Given the description of an element on the screen output the (x, y) to click on. 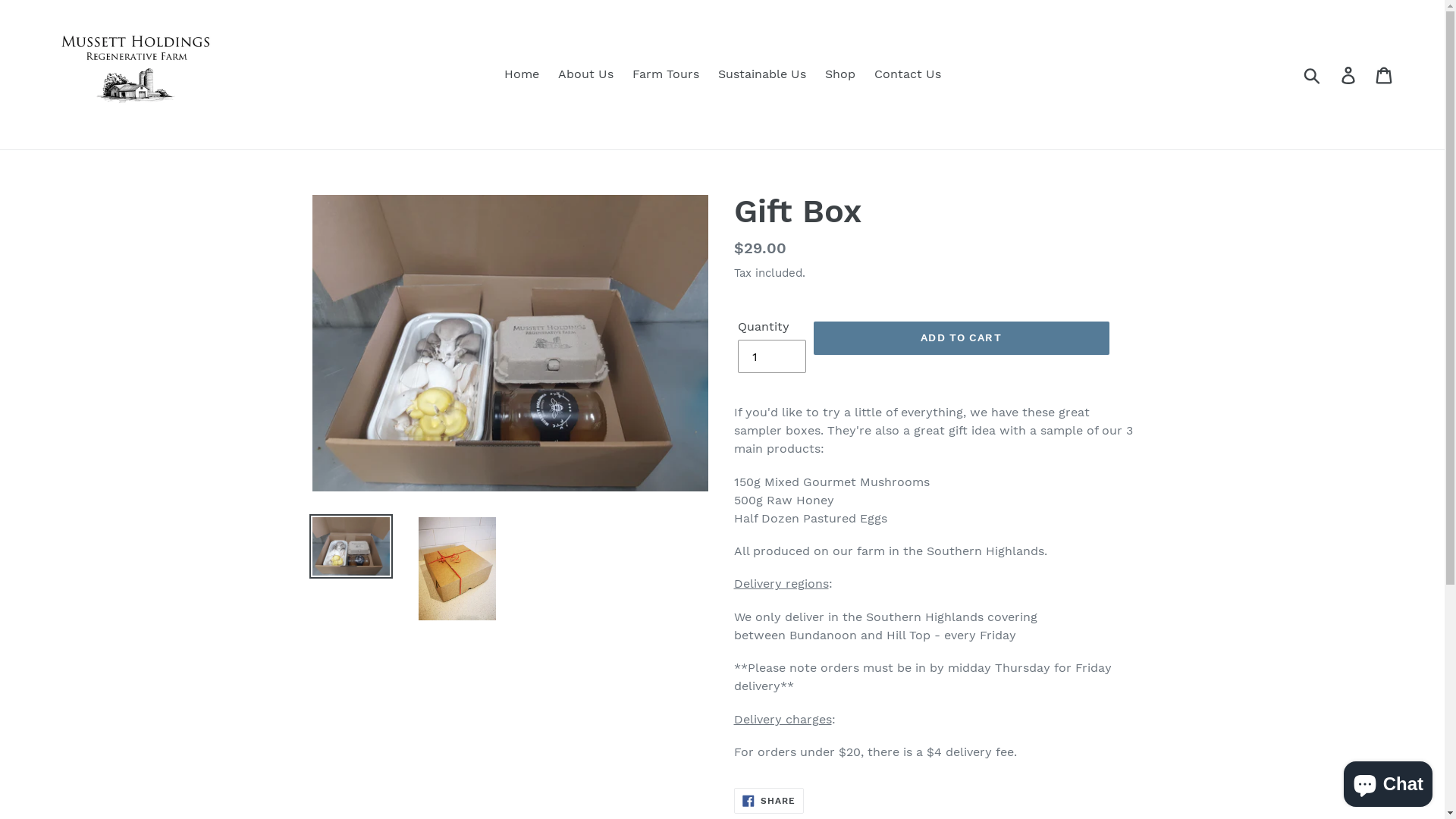
SHARE
SHARE ON FACEBOOK Element type: text (769, 800)
Cart Element type: text (1384, 74)
Sustainable Us Element type: text (760, 73)
Contact Us Element type: text (906, 73)
ADD TO CART Element type: text (960, 337)
About Us Element type: text (585, 73)
Shopify online store chat Element type: hover (1388, 780)
Log in Element type: text (1349, 74)
Submit Element type: text (1312, 74)
Home Element type: text (520, 73)
Shop Element type: text (839, 73)
Farm Tours Element type: text (665, 73)
